Given the description of an element on the screen output the (x, y) to click on. 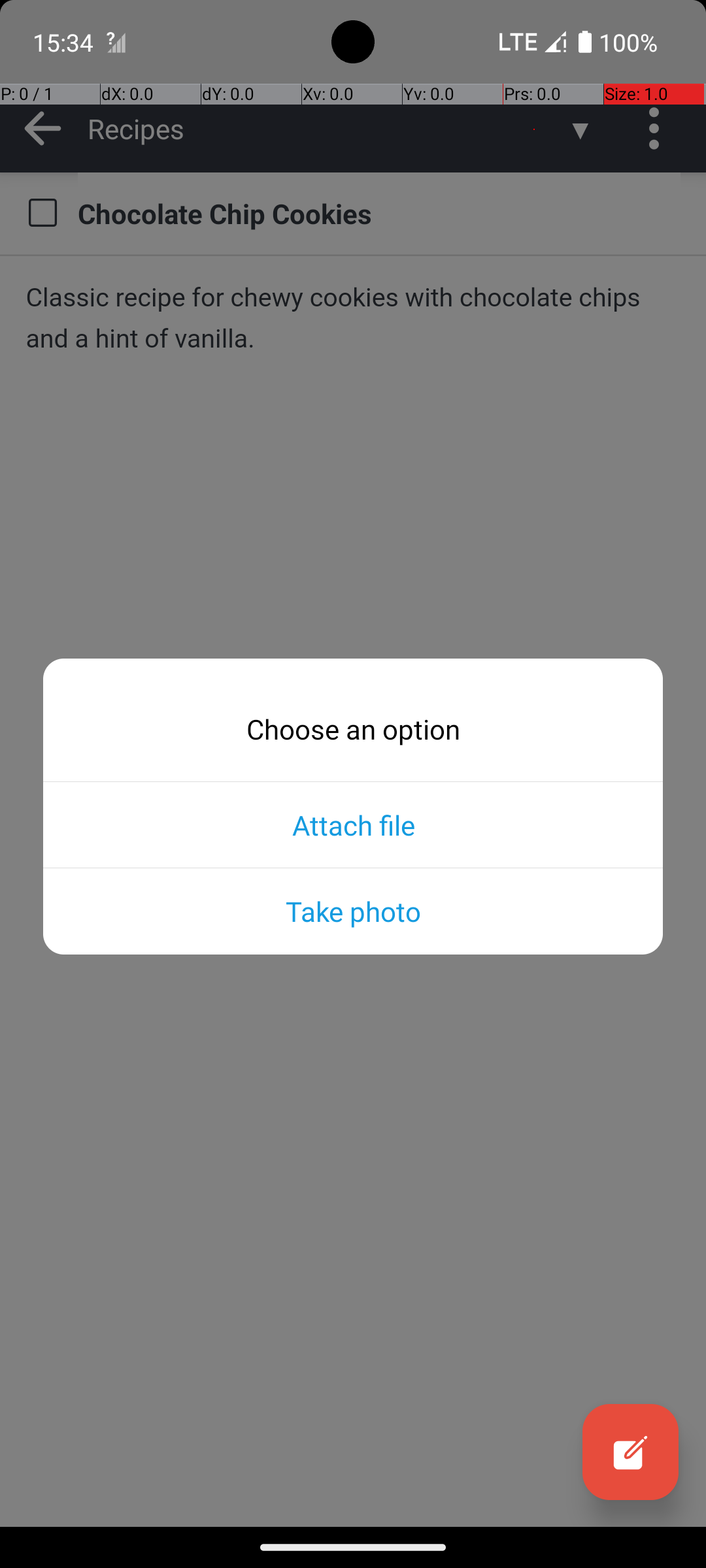
Choose an option Element type: android.widget.TextView (353, 728)
Chocolate Chip Cookies Element type: android.widget.EditText (378, 213)
Attach file Element type: android.widget.TextView (352, 824)
Classic recipe for chewy cookies with chocolate chips and a hint of vanilla. Element type: android.widget.TextView (352, 317)
